Given the description of an element on the screen output the (x, y) to click on. 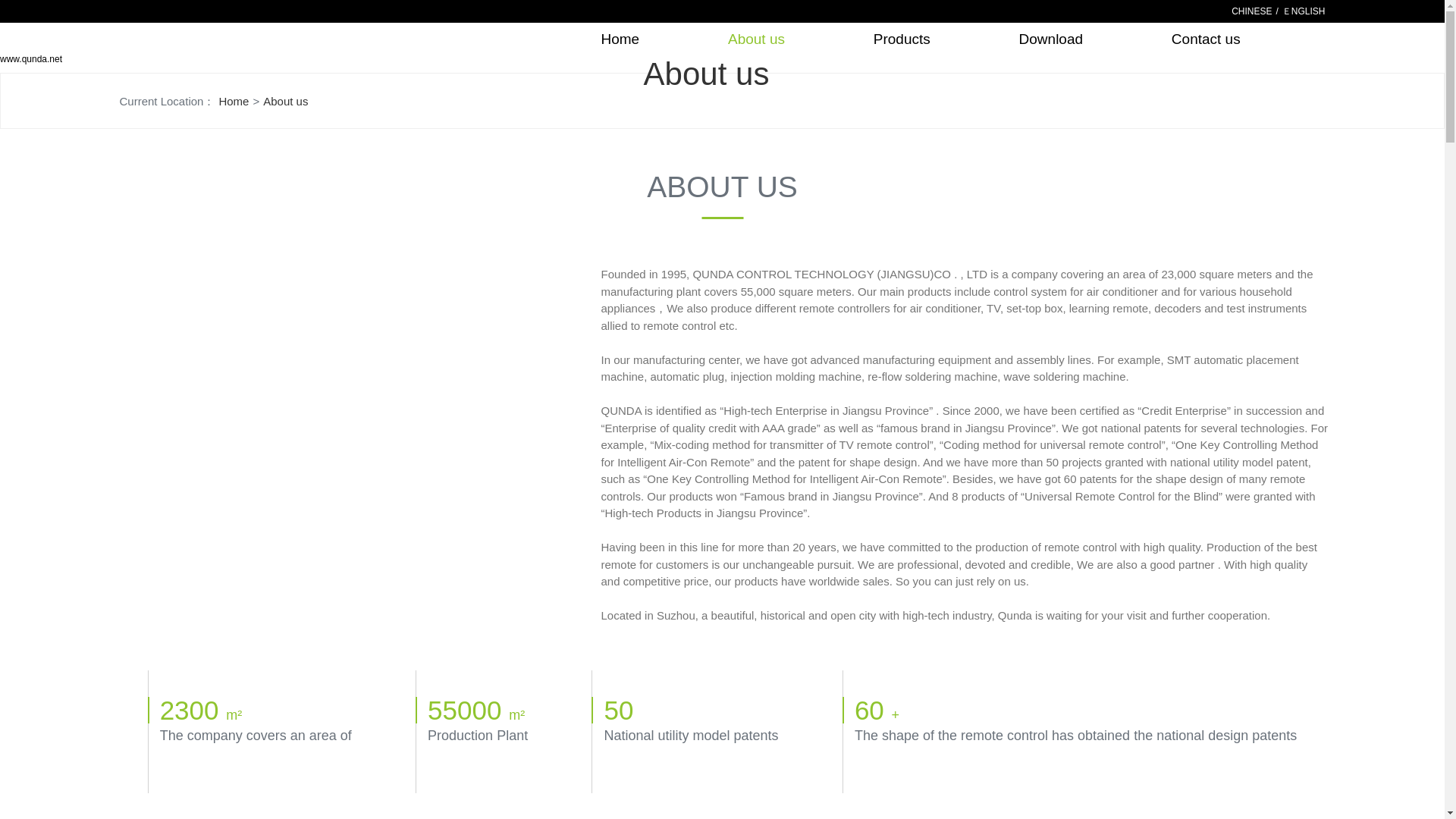
Contact us (1206, 37)
About us  (756, 37)
Products (901, 37)
About us (285, 101)
Home (619, 37)
Download (1051, 37)
Home (619, 37)
Contact us (1206, 37)
Download (1051, 37)
Home (233, 101)
Products (901, 37)
About us (756, 37)
CHINESE (1251, 10)
